Given the description of an element on the screen output the (x, y) to click on. 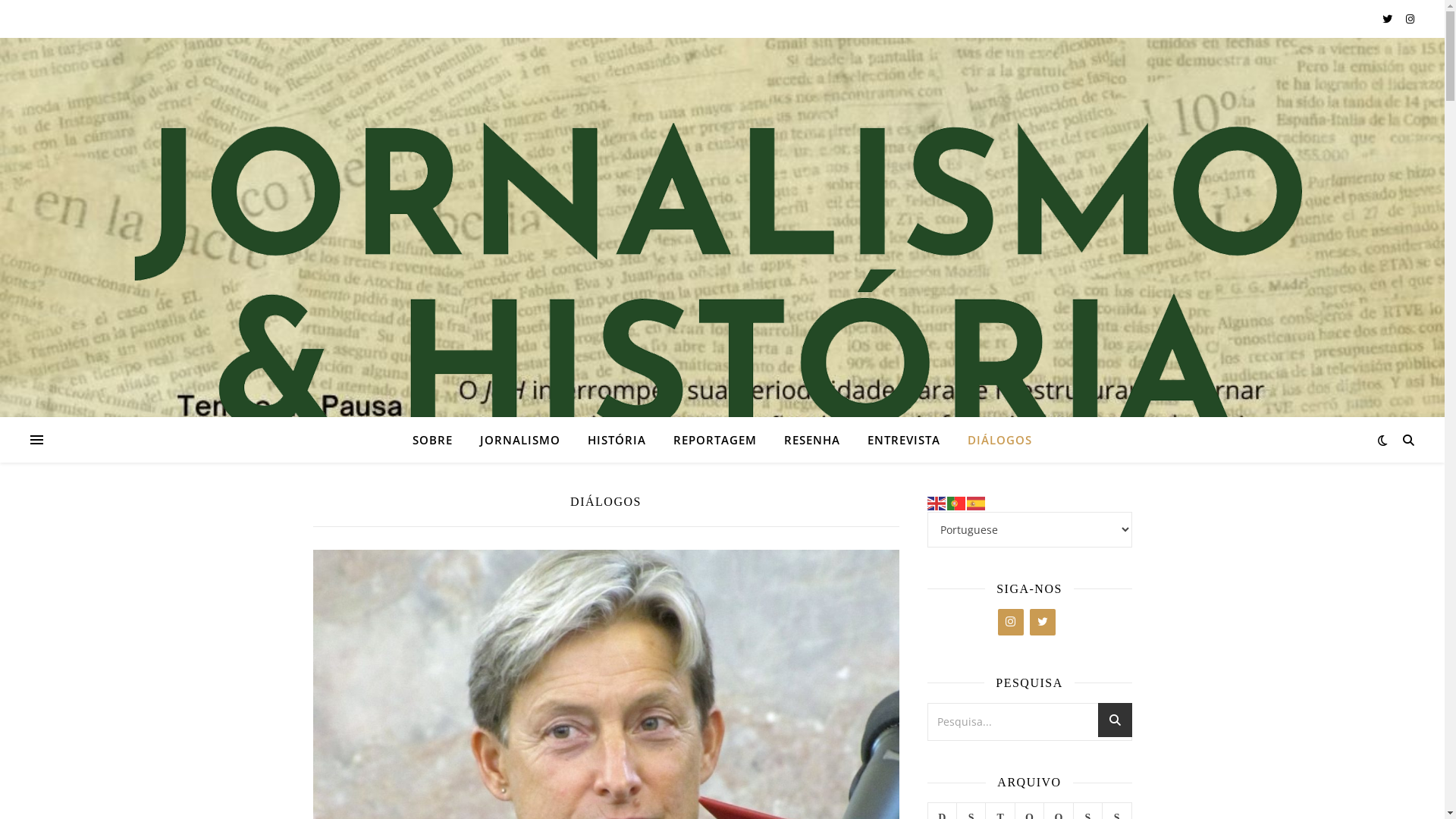
JORNALISMO Element type: text (519, 439)
st Element type: text (1114, 724)
REPORTAGEM Element type: text (714, 439)
Portuguese Element type: hover (956, 501)
RESENHA Element type: text (811, 439)
Instagram Element type: hover (1010, 621)
ENTREVISTA Element type: text (903, 439)
Spanish Element type: hover (975, 501)
Twitter Element type: hover (1042, 621)
SOBRE Element type: text (438, 439)
English Element type: hover (936, 501)
